Given the description of an element on the screen output the (x, y) to click on. 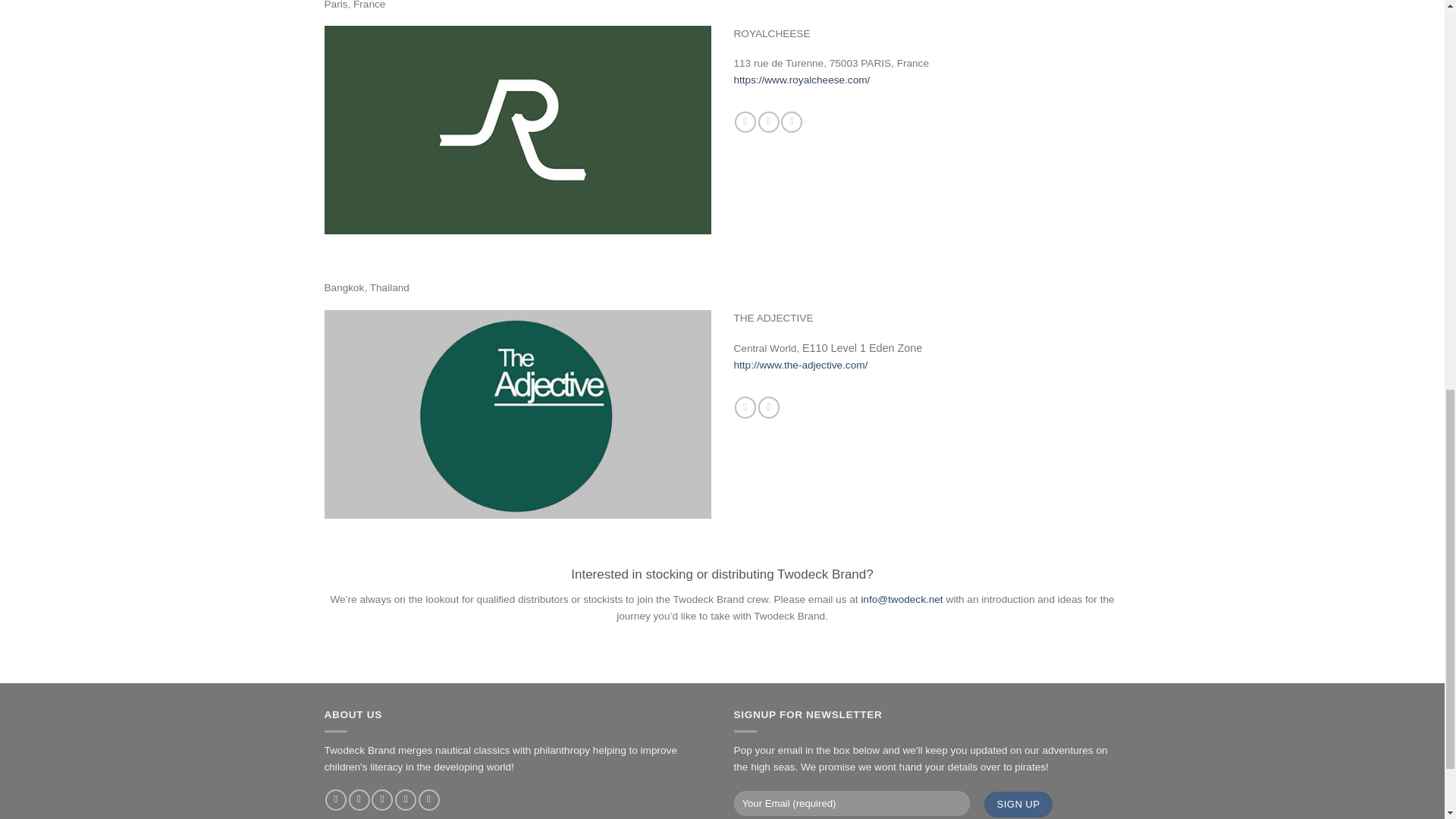
Follow on Instagram (768, 407)
Sign Up (1018, 804)
Follow on Facebook (335, 800)
Follow on Instagram (359, 800)
Sign Up (1018, 804)
Follow on Instagram (768, 122)
Follow on Facebook (745, 407)
Follow on Twitter (791, 122)
Follow on Facebook (745, 122)
